Given the description of an element on the screen output the (x, y) to click on. 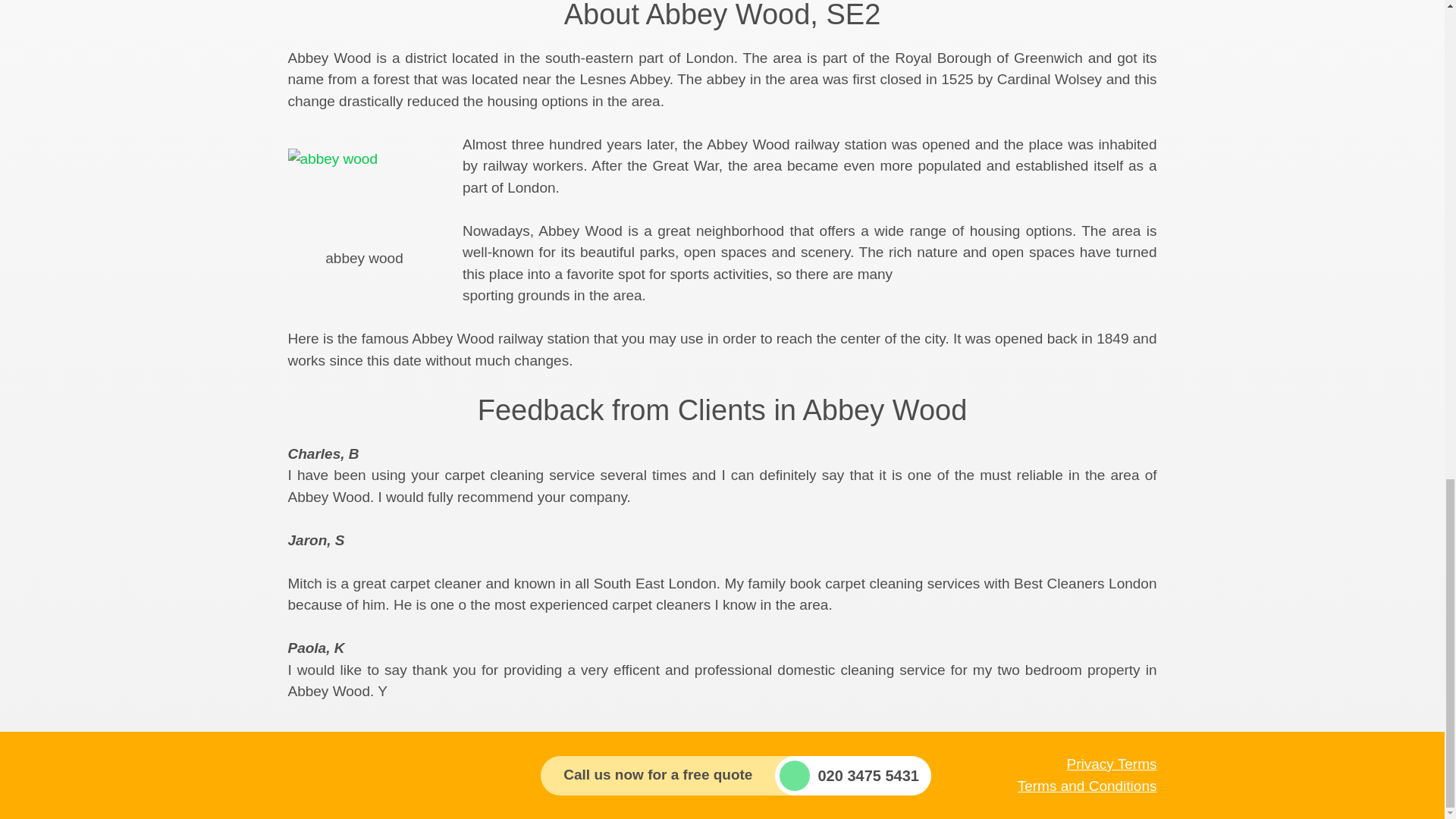
020 3475 5431 (852, 775)
Terms and Conditions (1087, 785)
Privacy Terms (1112, 763)
Company Logo (371, 774)
